Given the description of an element on the screen output the (x, y) to click on. 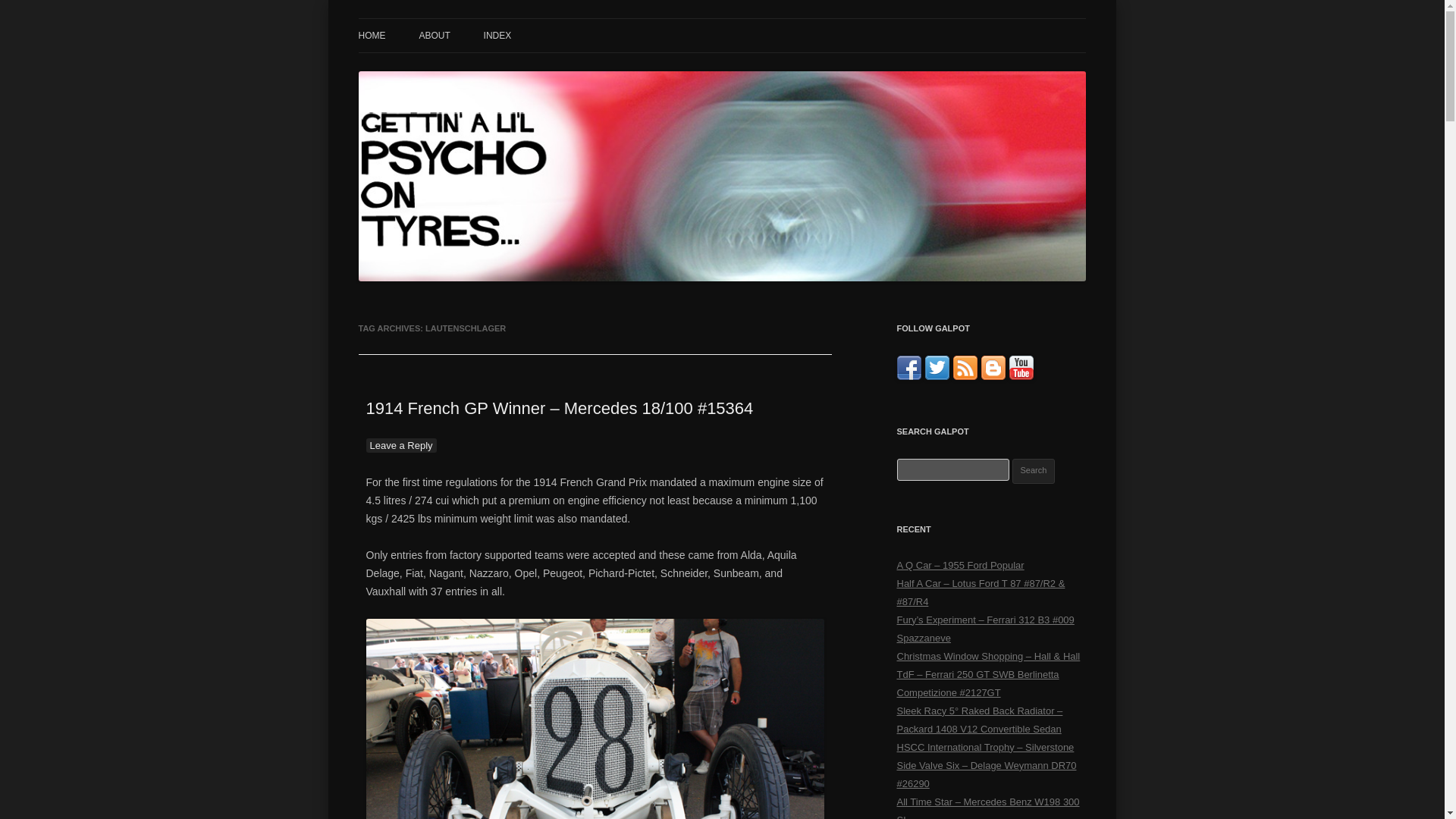
Subscribe to RSS Feed (964, 376)
ABOUT (434, 35)
Leave a Reply (400, 445)
Blogger Blog (993, 376)
Search (1033, 471)
Follow arttidesco on Twitter (936, 376)
Gettin' A Li'l Psycho On Tyres (497, 36)
Gettin' A Li'l Psycho On Tyres (497, 36)
psychoontyres - YouTube (1020, 376)
Connect on Facebook (908, 376)
